Given the description of an element on the screen output the (x, y) to click on. 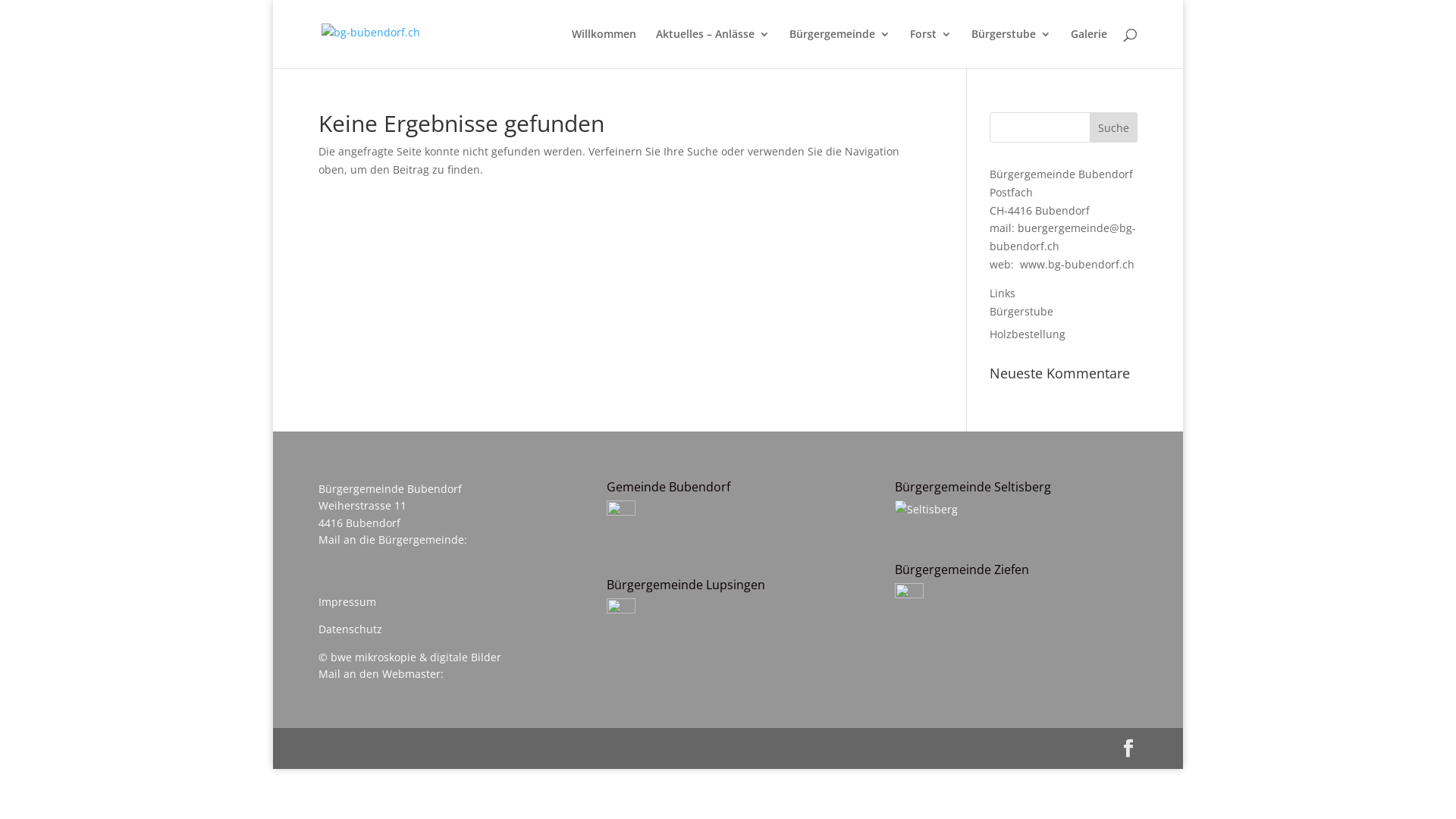
buergergemeinde@bg-bubendorf.ch Element type: text (1062, 236)
Forst Element type: text (930, 48)
Gemeinde Bubendorf Element type: hover (620, 516)
WordPress Element type: text (569, 747)
www.bg-bubendorf.ch Element type: text (1076, 264)
Mail an den Webmaster: Element type: text (380, 673)
Datenschutz Element type: text (350, 628)
Galerie Element type: text (1088, 48)
Impressum Element type: text (347, 601)
Willkommen Element type: text (603, 48)
Suche Element type: text (1113, 127)
Elegant Themes Element type: text (425, 747)
